Given the description of an element on the screen output the (x, y) to click on. 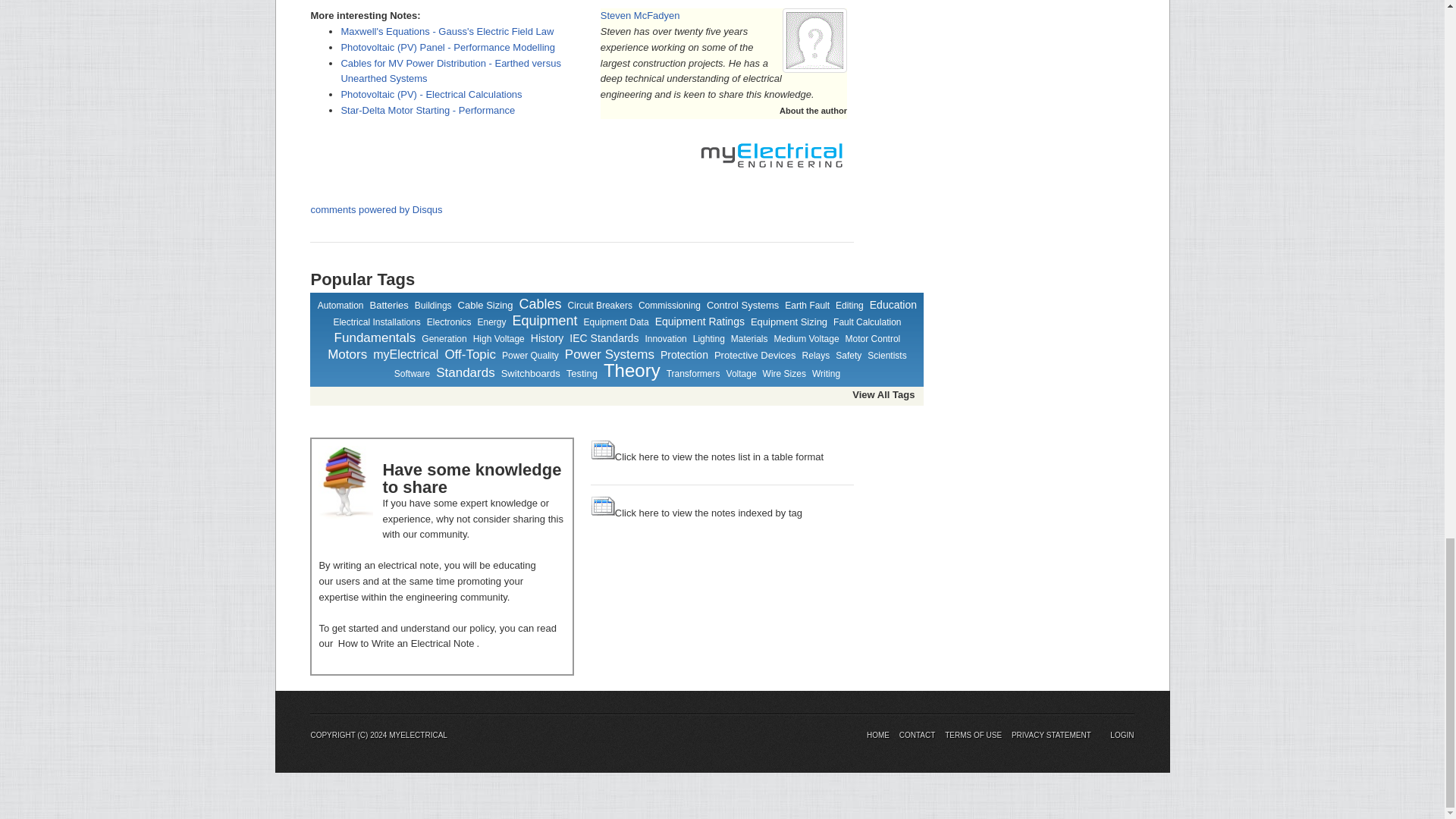
Posts tagged with Automation (340, 305)
Posts tagged with Circuit Breakers (599, 305)
Posts tagged with Cable Sizing (486, 305)
Posts tagged with Batteries (389, 305)
Star-Delta Motor Starting - Performance (427, 110)
Posts tagged with Buildings (432, 305)
Posts tagged with Cables (540, 304)
Maxwell's Equations - Gauss's Electric Field Law (446, 30)
comments powered by Disqus (376, 209)
Steven McFadyen (639, 15)
Posts tagged with Commissioning (669, 305)
